Given the description of an element on the screen output the (x, y) to click on. 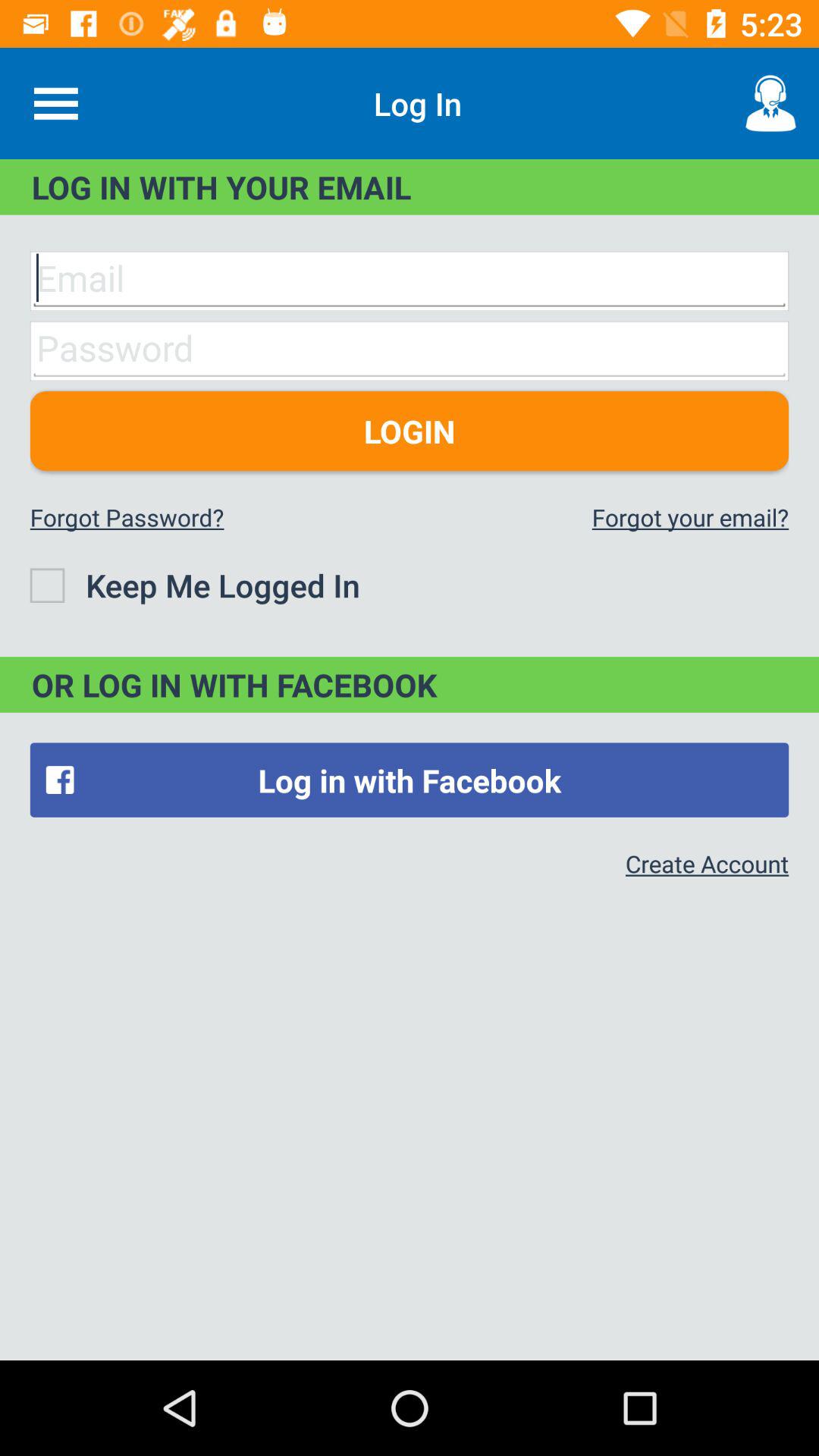
turn off item above log in with item (55, 103)
